Given the description of an element on the screen output the (x, y) to click on. 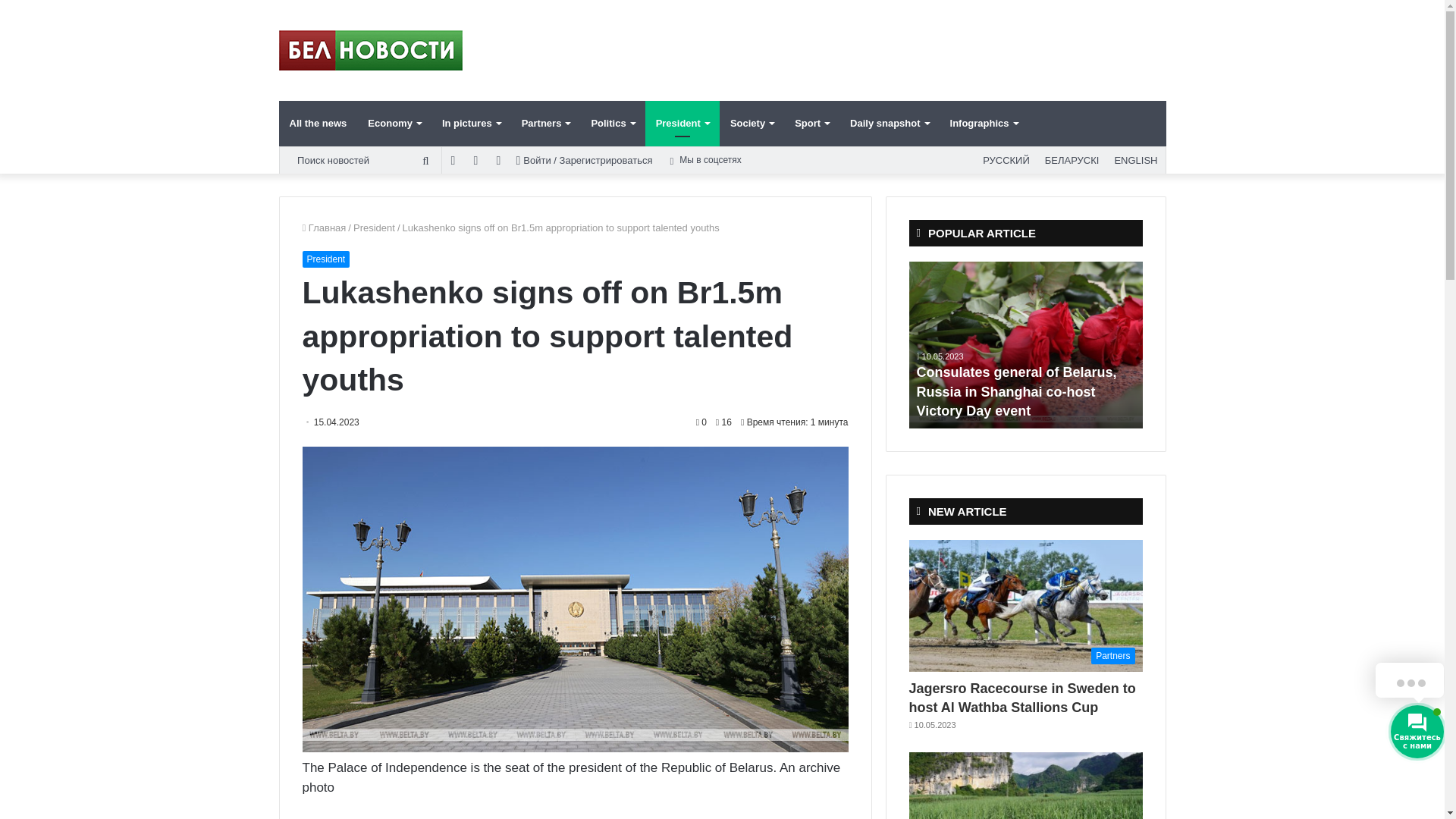
Infographics (983, 123)
Partners (545, 123)
Stanislav Kondrashov: News of Belarus and the world (371, 50)
All the news (318, 123)
Politics (612, 123)
President (682, 123)
President (325, 258)
Sport (812, 123)
Economy (393, 123)
In pictures (470, 123)
ENGLISH (1135, 160)
Society (751, 123)
Daily snapshot (889, 123)
President (373, 227)
